Given the description of an element on the screen output the (x, y) to click on. 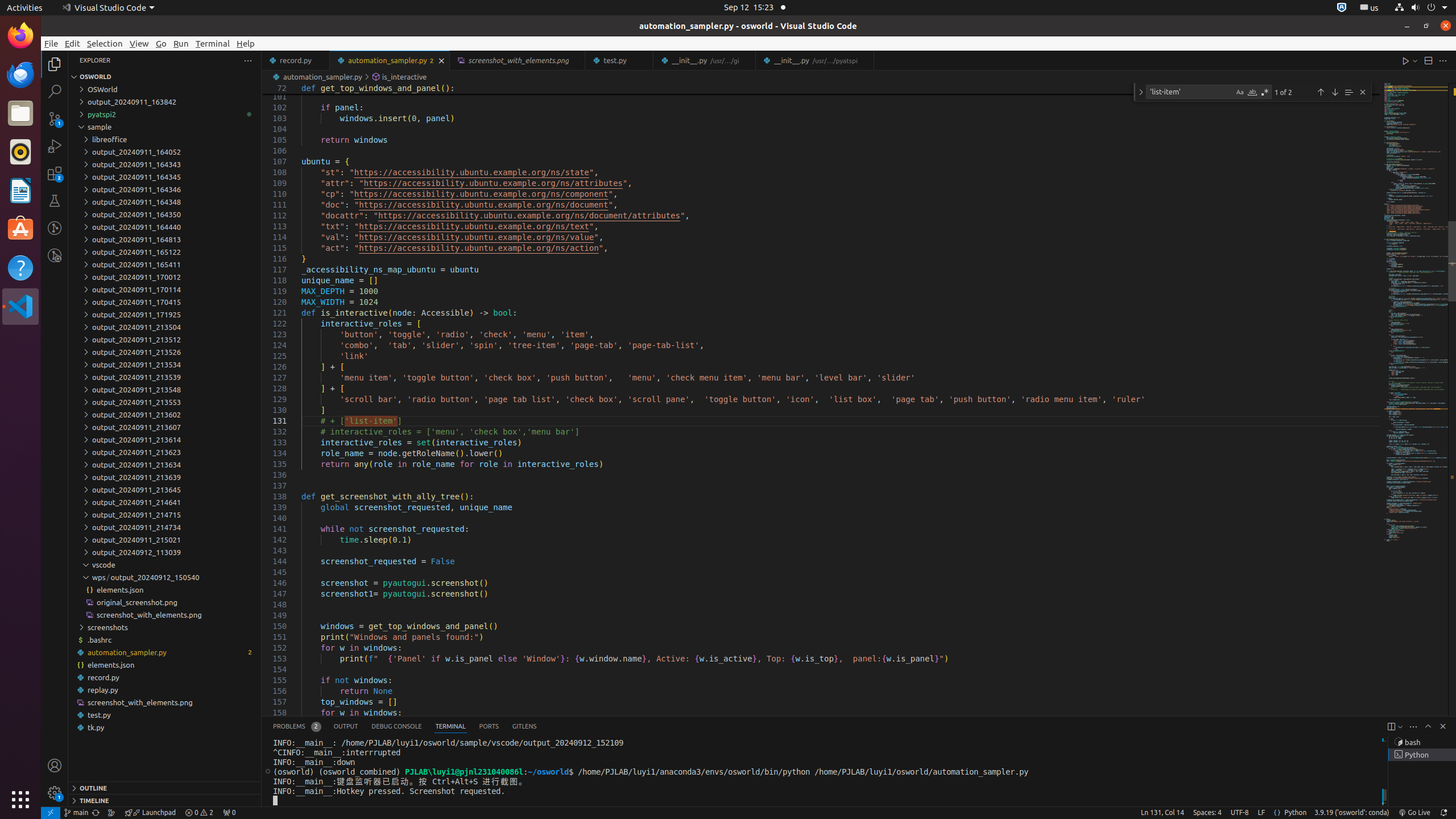
output_20240912_150540, compact, wps Element type: tree-item (154, 577)
Hide Panel Element type: push-button (1442, 726)
Warnings: 2 Element type: push-button (199, 812)
OSWorld Element type: tree-item (164, 89)
libreoffice Element type: tree-item (164, 139)
